Given the description of an element on the screen output the (x, y) to click on. 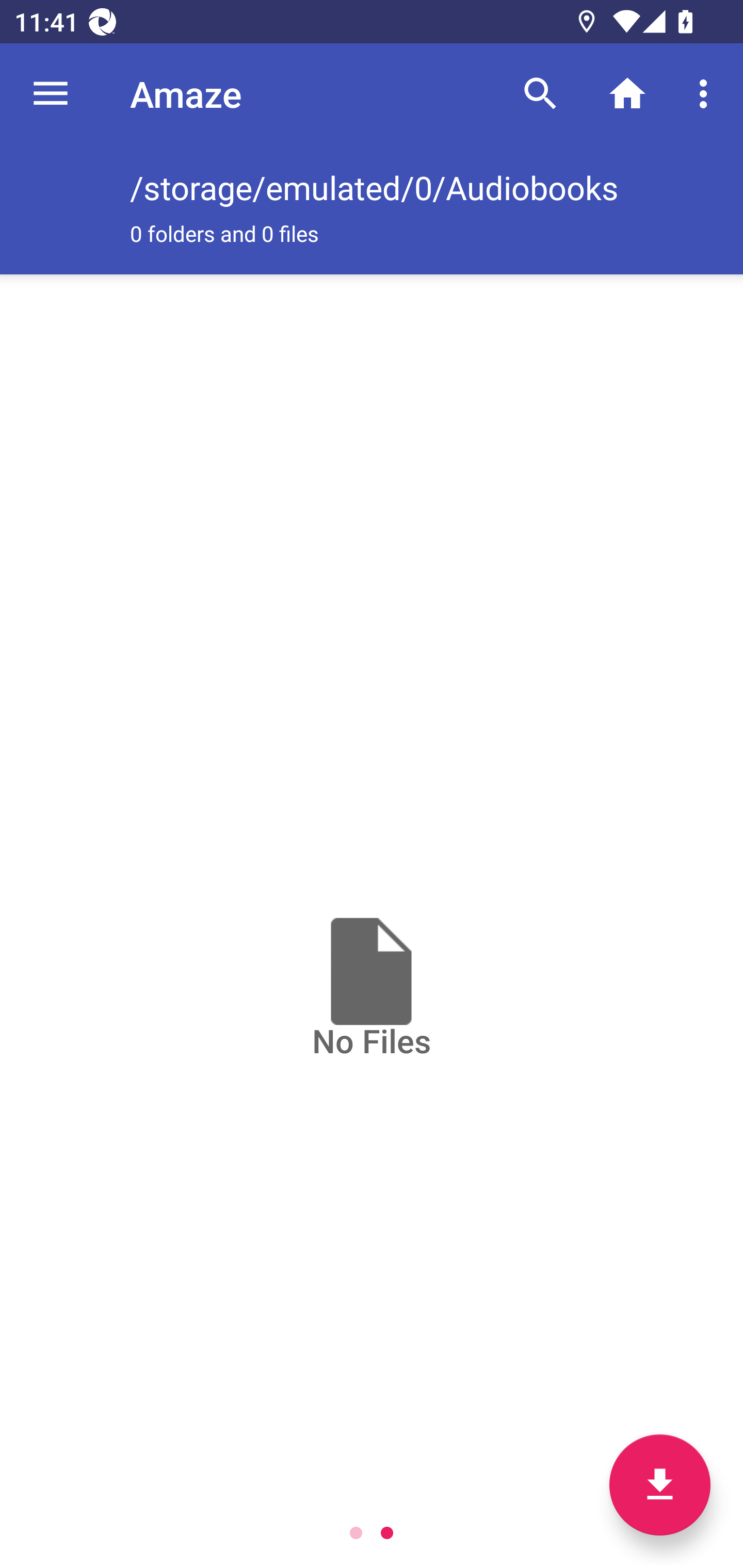
Navigate up (50, 93)
Search (540, 93)
Home (626, 93)
More options (706, 93)
